Given the description of an element on the screen output the (x, y) to click on. 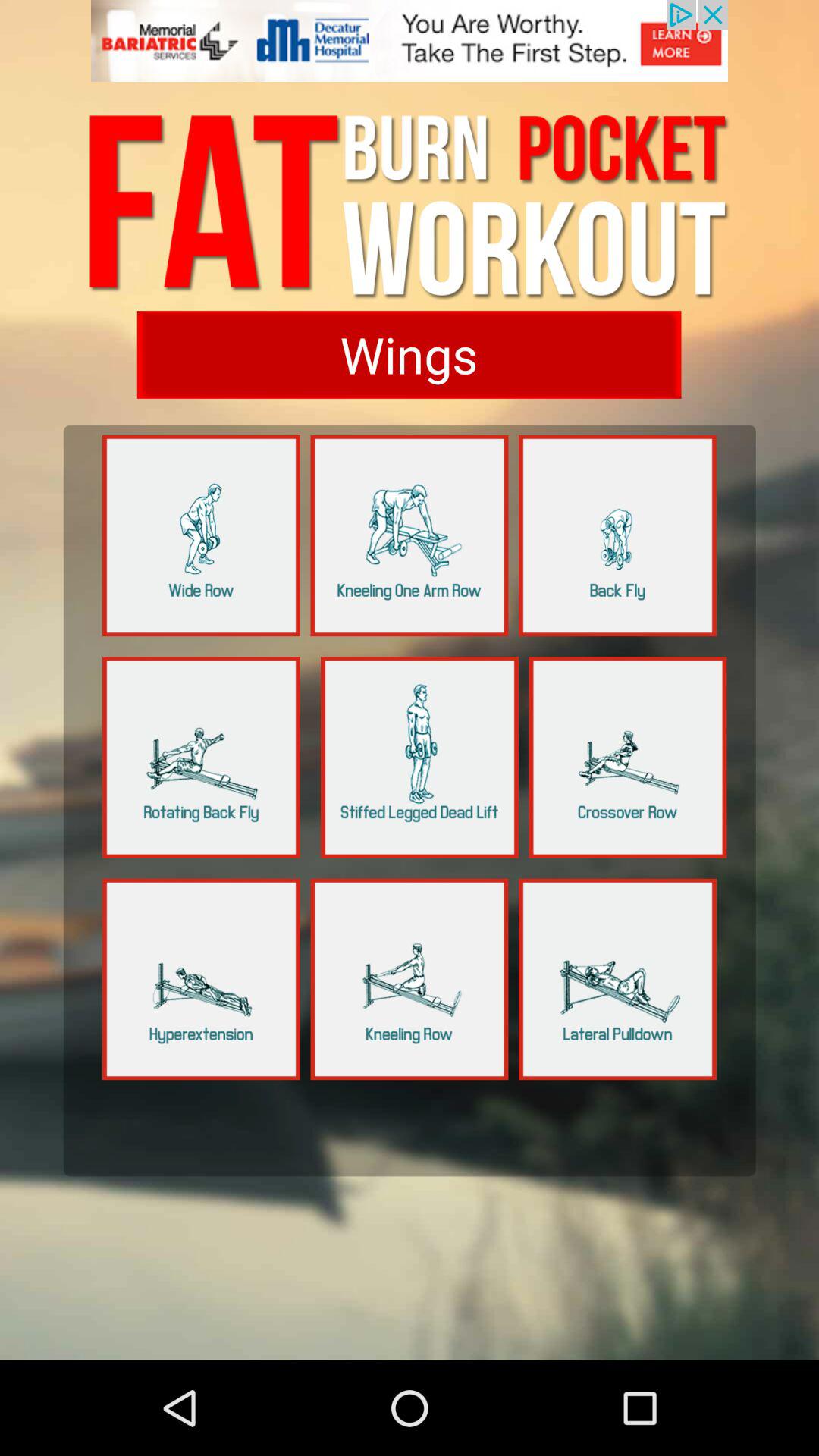
open menu (617, 979)
